Given the description of an element on the screen output the (x, y) to click on. 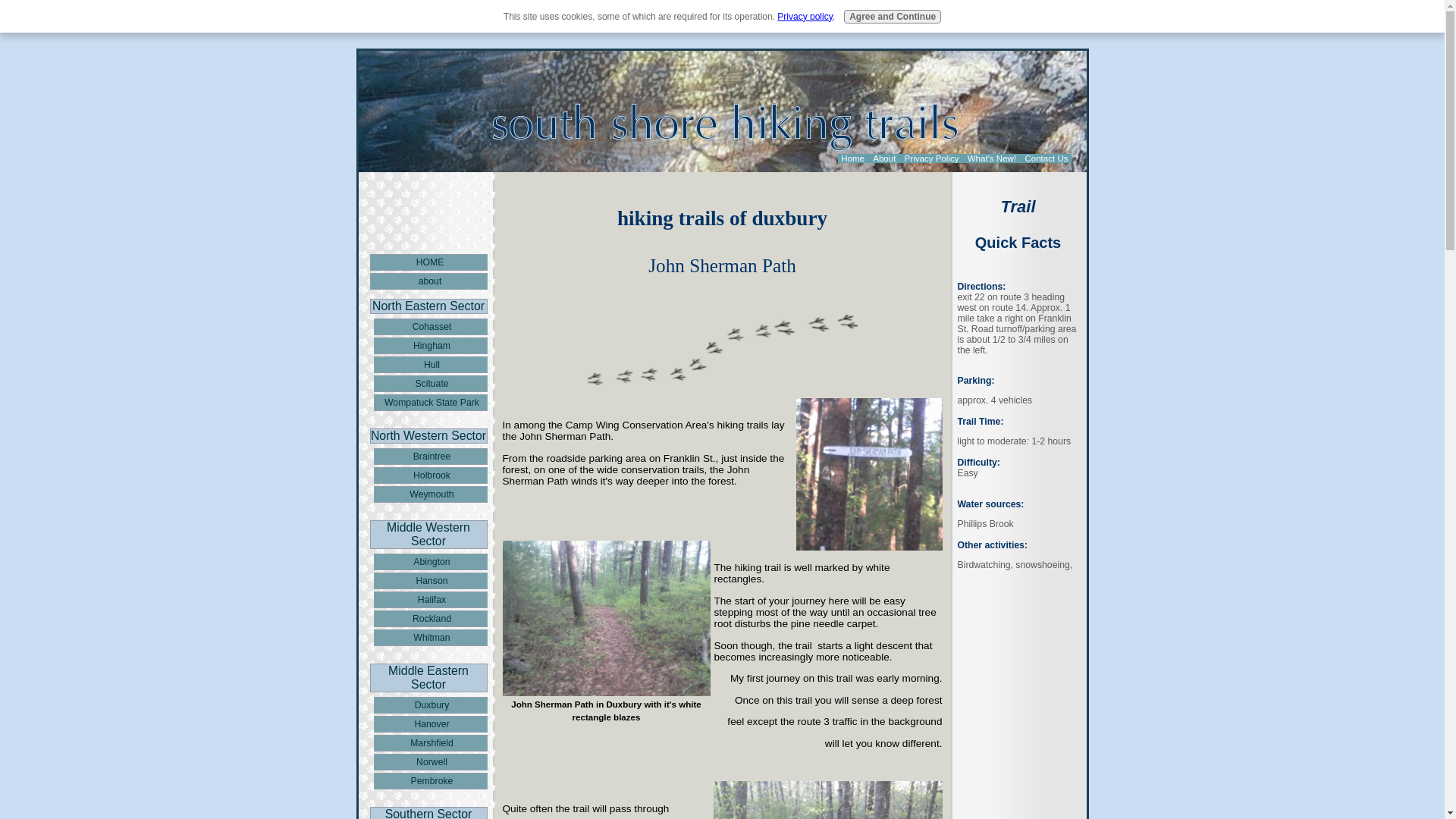
Hingham (429, 345)
Scituate (429, 383)
john sherman path part of the camp wing conservation area (606, 618)
HOME (428, 262)
Privacy Policy (931, 157)
Contact Us (1046, 157)
Hanover (429, 723)
What's New! (991, 157)
Holbrook (429, 475)
Hanson (429, 580)
Braintree (429, 456)
Marshfield (429, 742)
Weymouth (429, 494)
Halifax (429, 599)
revised bird tracks (721, 349)
